Given the description of an element on the screen output the (x, y) to click on. 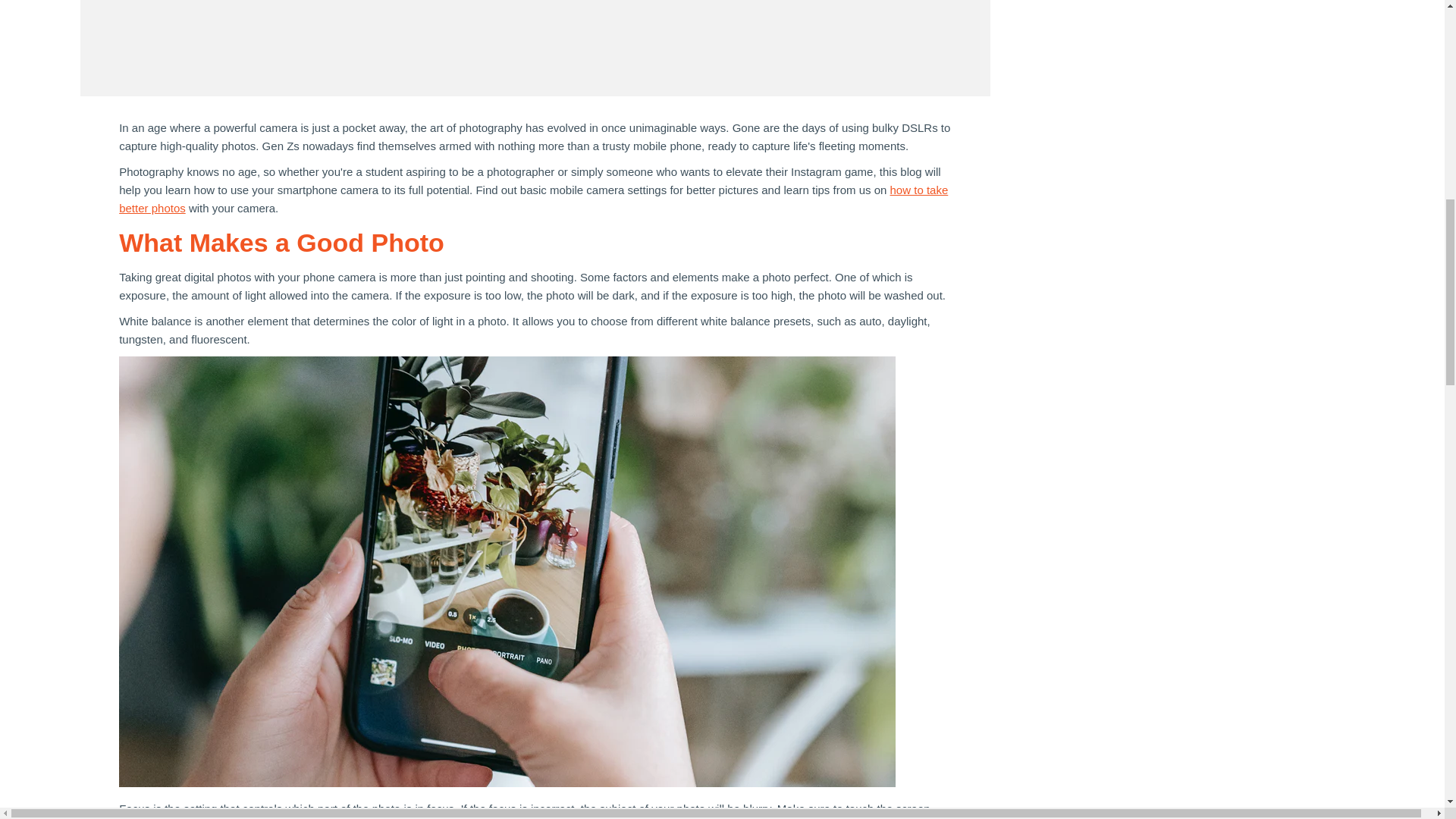
mobile phone photography beginner tips (533, 198)
